Given the description of an element on the screen output the (x, y) to click on. 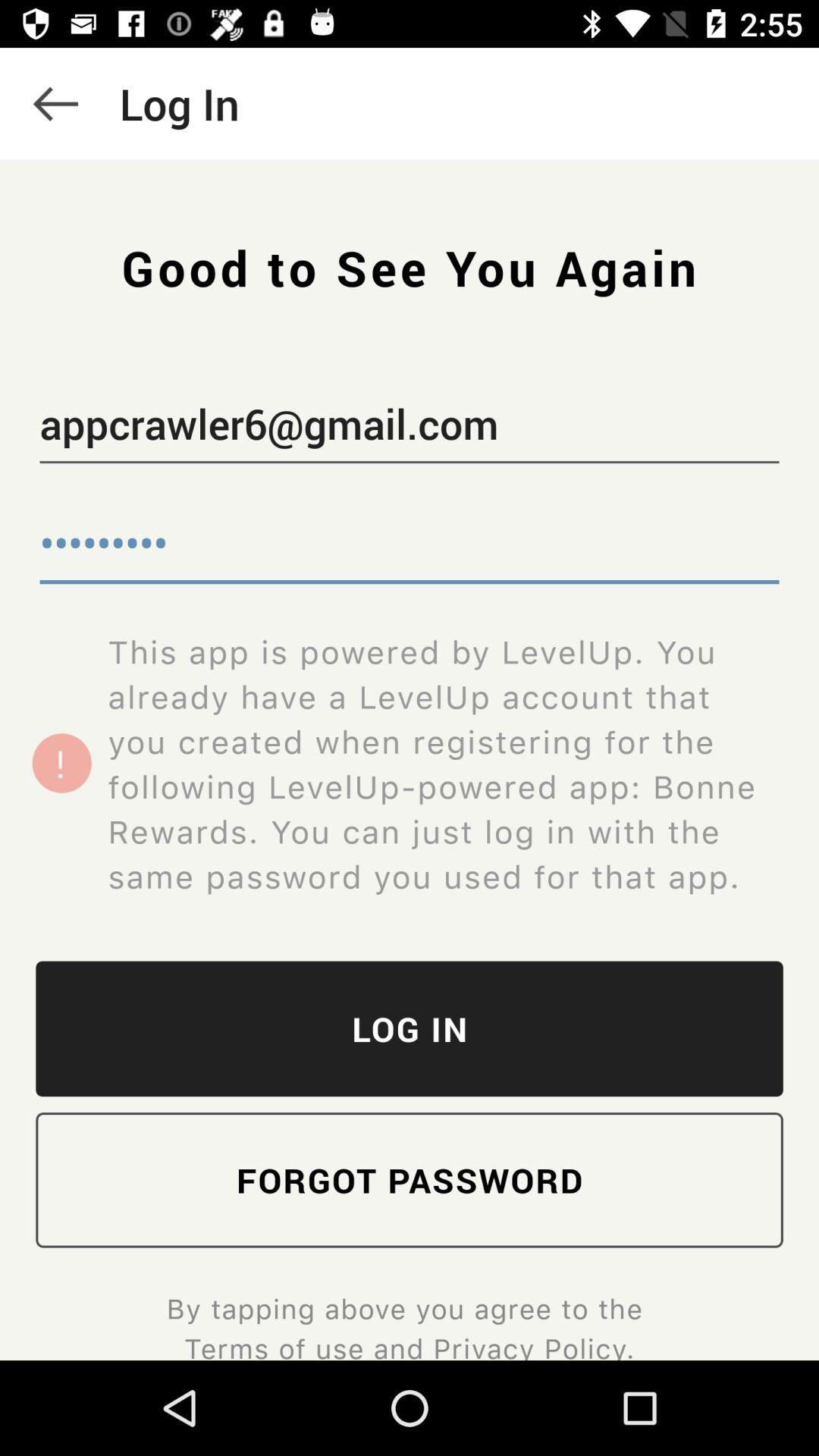
swipe until the crowd3116 (409, 545)
